Given the description of an element on the screen output the (x, y) to click on. 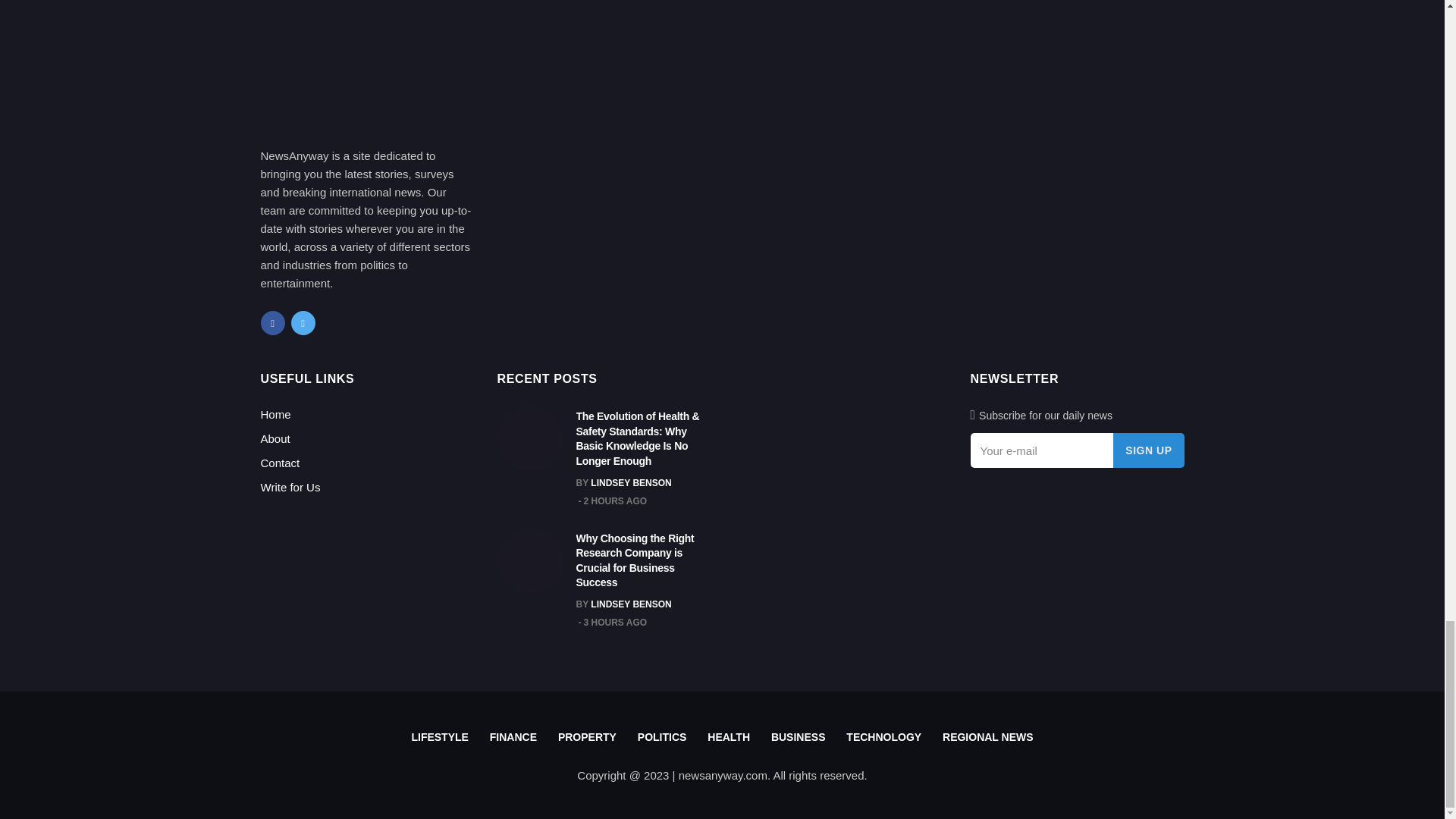
Sign Up (1148, 450)
